Given the description of an element on the screen output the (x, y) to click on. 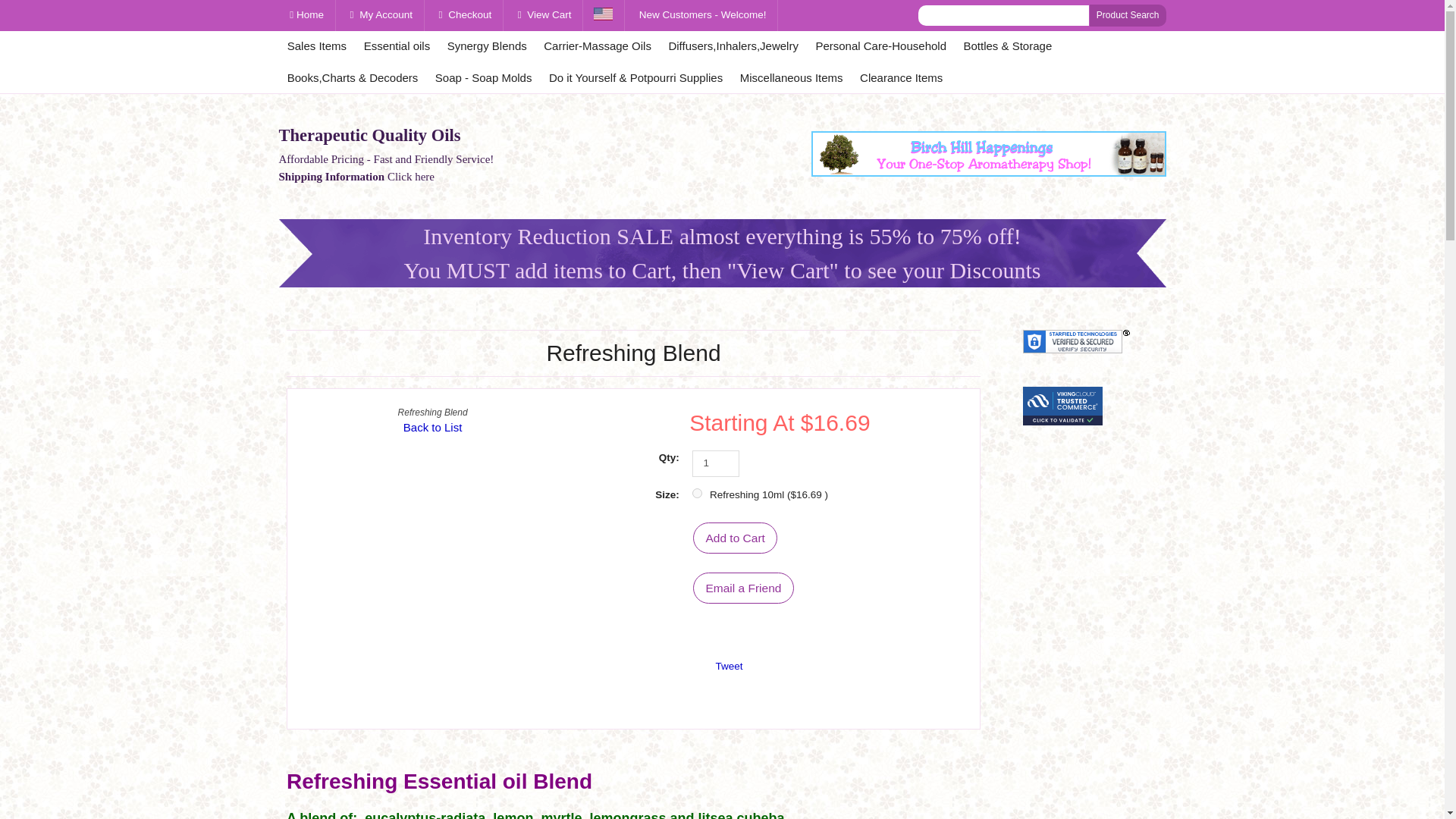
Home (307, 15)
Sales Items (317, 45)
Product Search (1127, 15)
My Account (382, 15)
New Customers - Welcome! (702, 15)
Add to Cart (735, 537)
Product Search (1127, 15)
954 (697, 492)
View Cart (544, 15)
Essential oils (396, 45)
search (1003, 14)
Synergy Blends (486, 45)
Diffusers,Inhalers,Jewelry (732, 45)
Carrier-Massage Oils (597, 45)
